Given the description of an element on the screen output the (x, y) to click on. 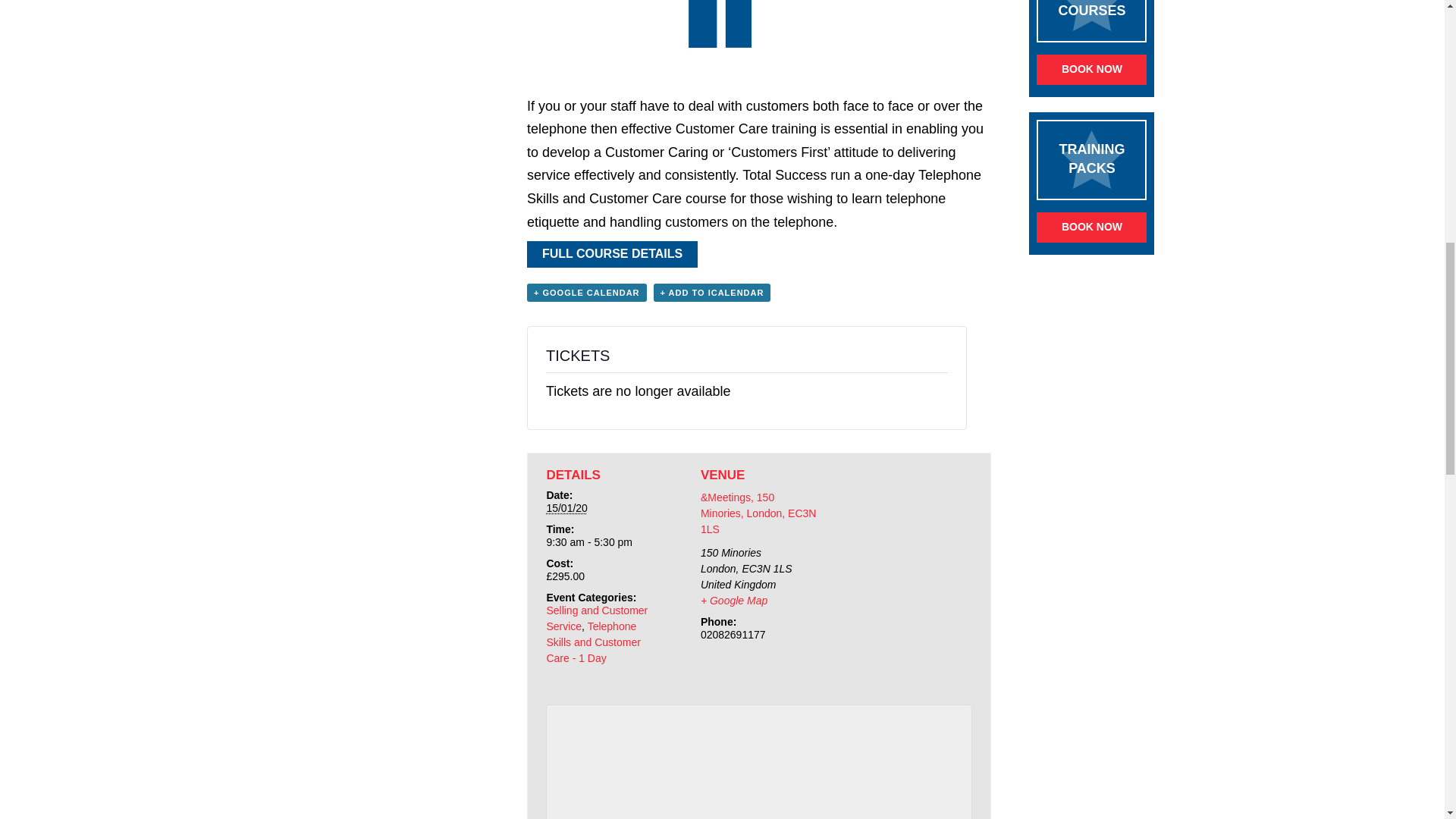
Download .ics file (712, 292)
2020-01-15 (604, 542)
Click to view a Google Map (733, 600)
2020-01-15 (567, 508)
Add to Google Calendar (586, 292)
